Given the description of an element on the screen output the (x, y) to click on. 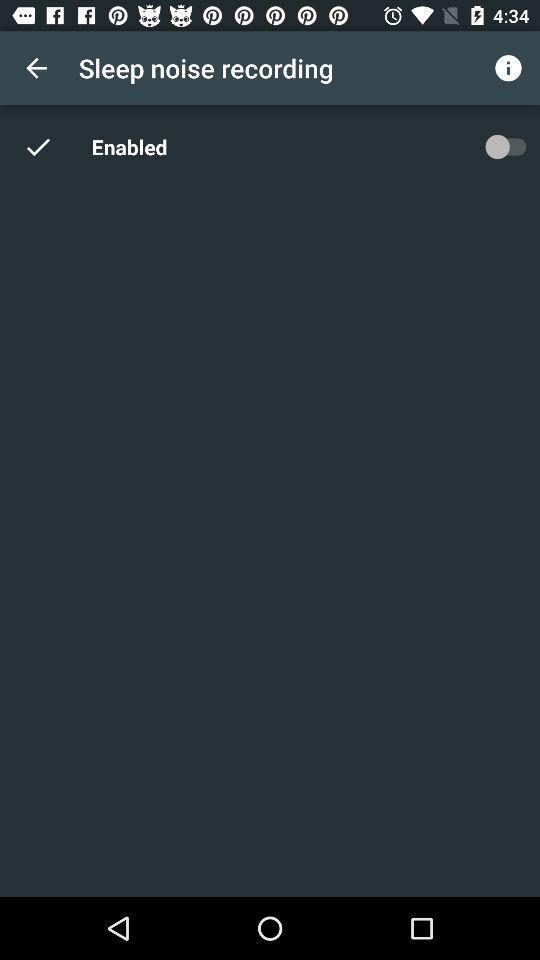
select item below sleep noise recording (132, 146)
